Given the description of an element on the screen output the (x, y) to click on. 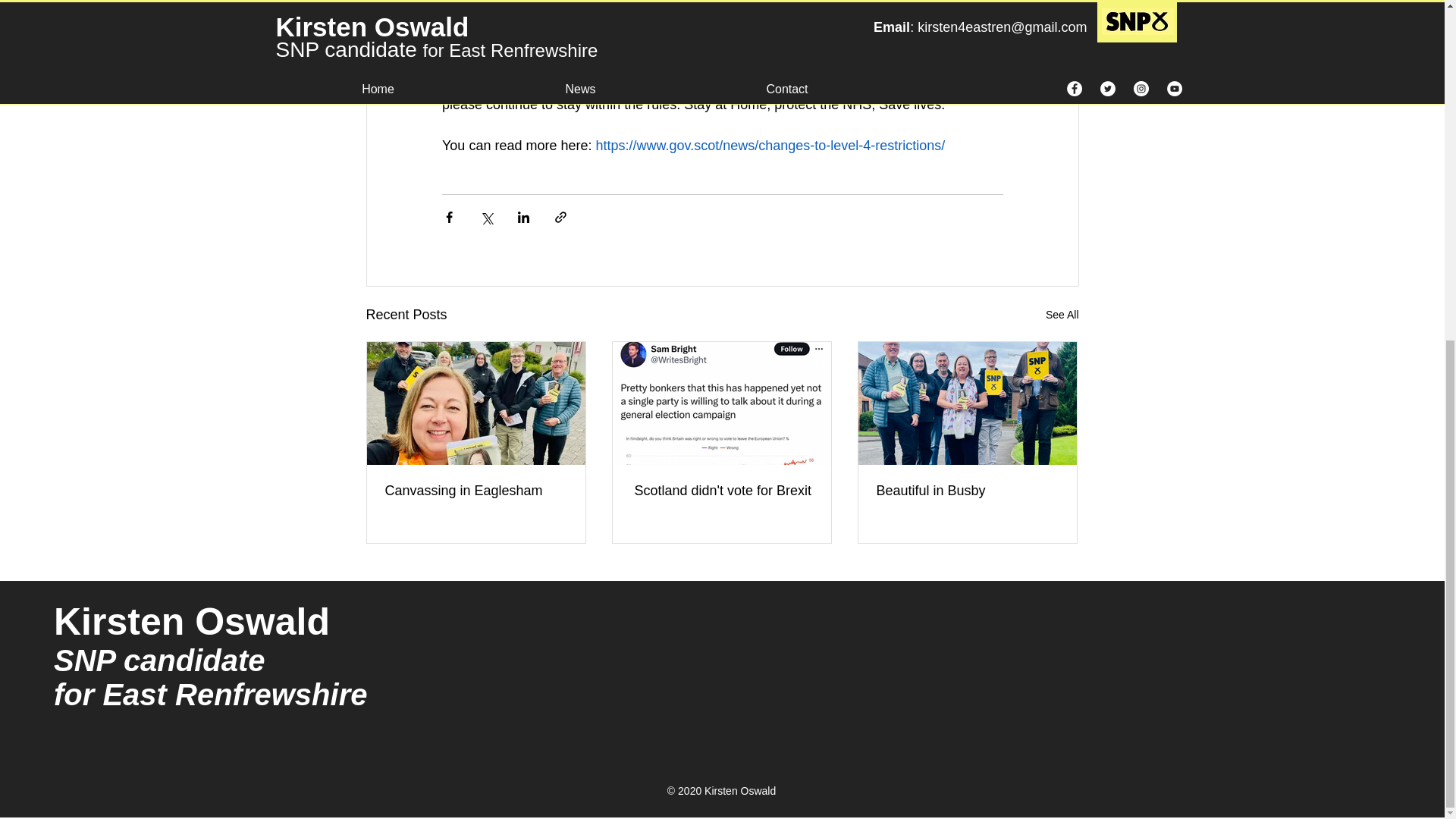
See All (1061, 314)
Beautiful in Busby (967, 490)
 Scotland didn't vote for Brexit (721, 490)
Canvassing in Eaglesham (476, 490)
